Given the description of an element on the screen output the (x, y) to click on. 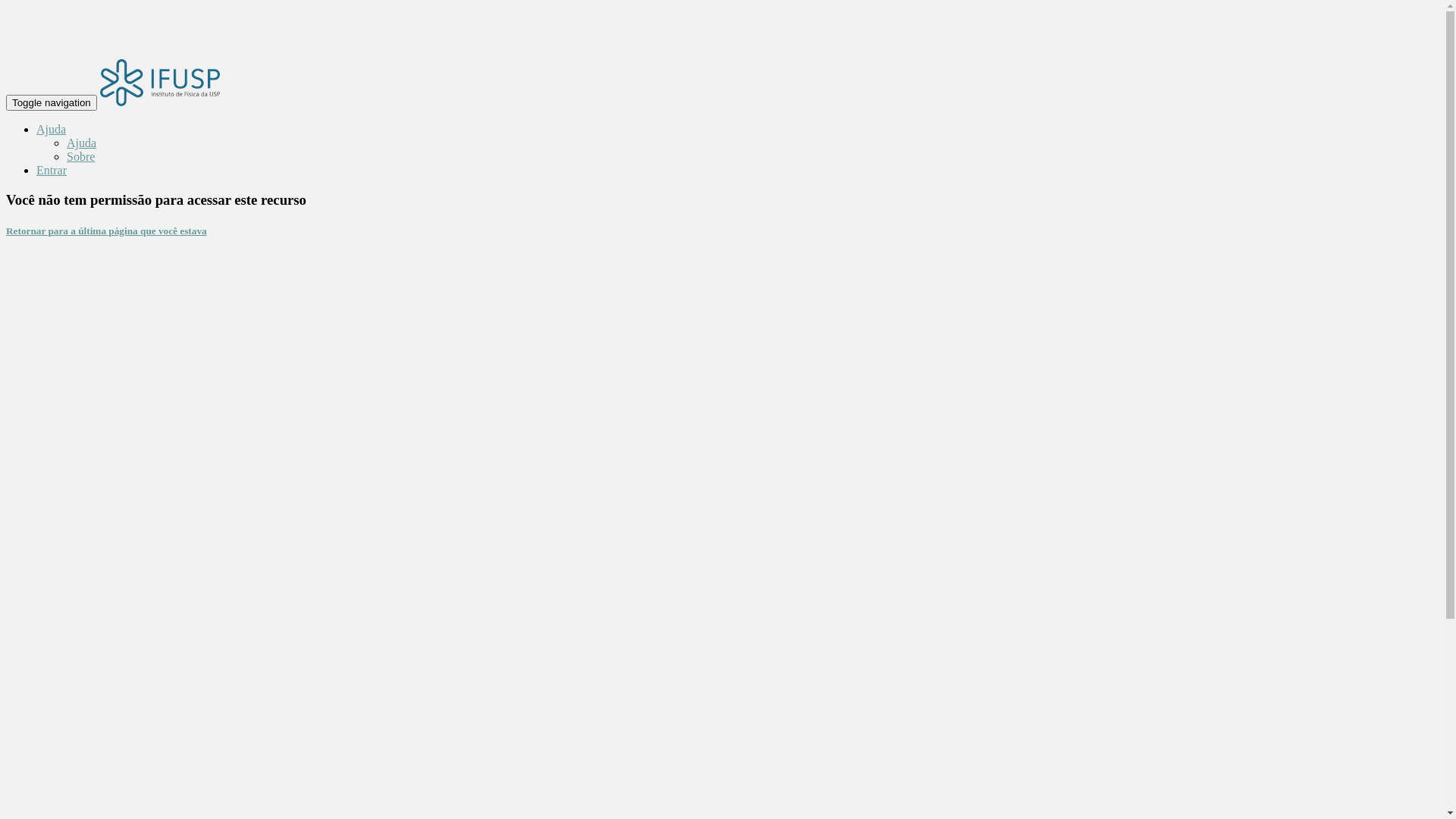
Toggle navigation Element type: text (51, 102)
Ajuda Element type: text (50, 128)
Sobre Element type: text (80, 156)
Entrar Element type: text (51, 169)
Ajuda Element type: text (81, 142)
Sistema de Agendamento - Criar Reservas Element type: hover (159, 82)
